Given the description of an element on the screen output the (x, y) to click on. 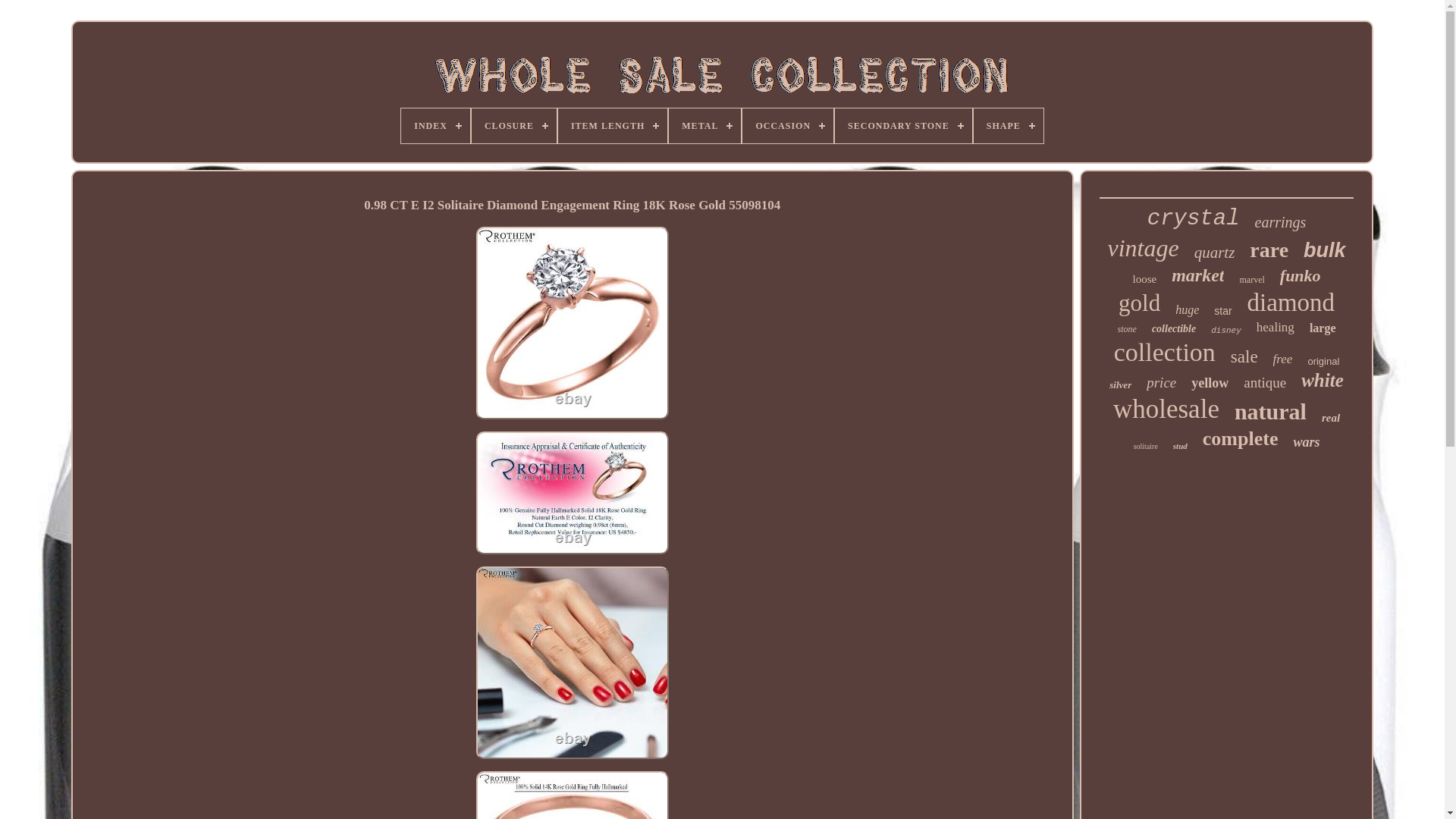
INDEX (435, 125)
CLOSURE (513, 125)
ITEM LENGTH (611, 125)
